Given the description of an element on the screen output the (x, y) to click on. 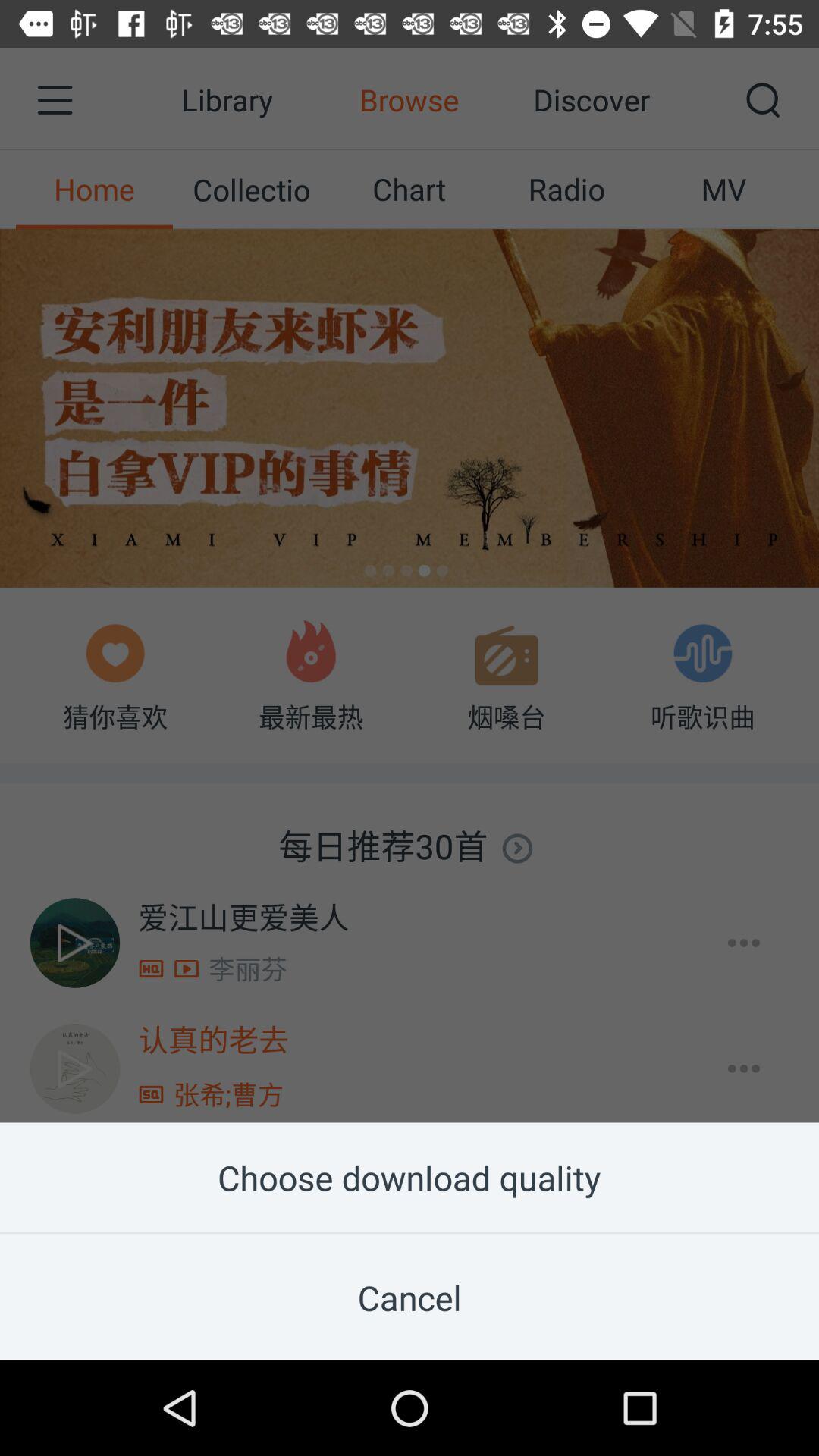
open item at the center (409, 561)
